Given the description of an element on the screen output the (x, y) to click on. 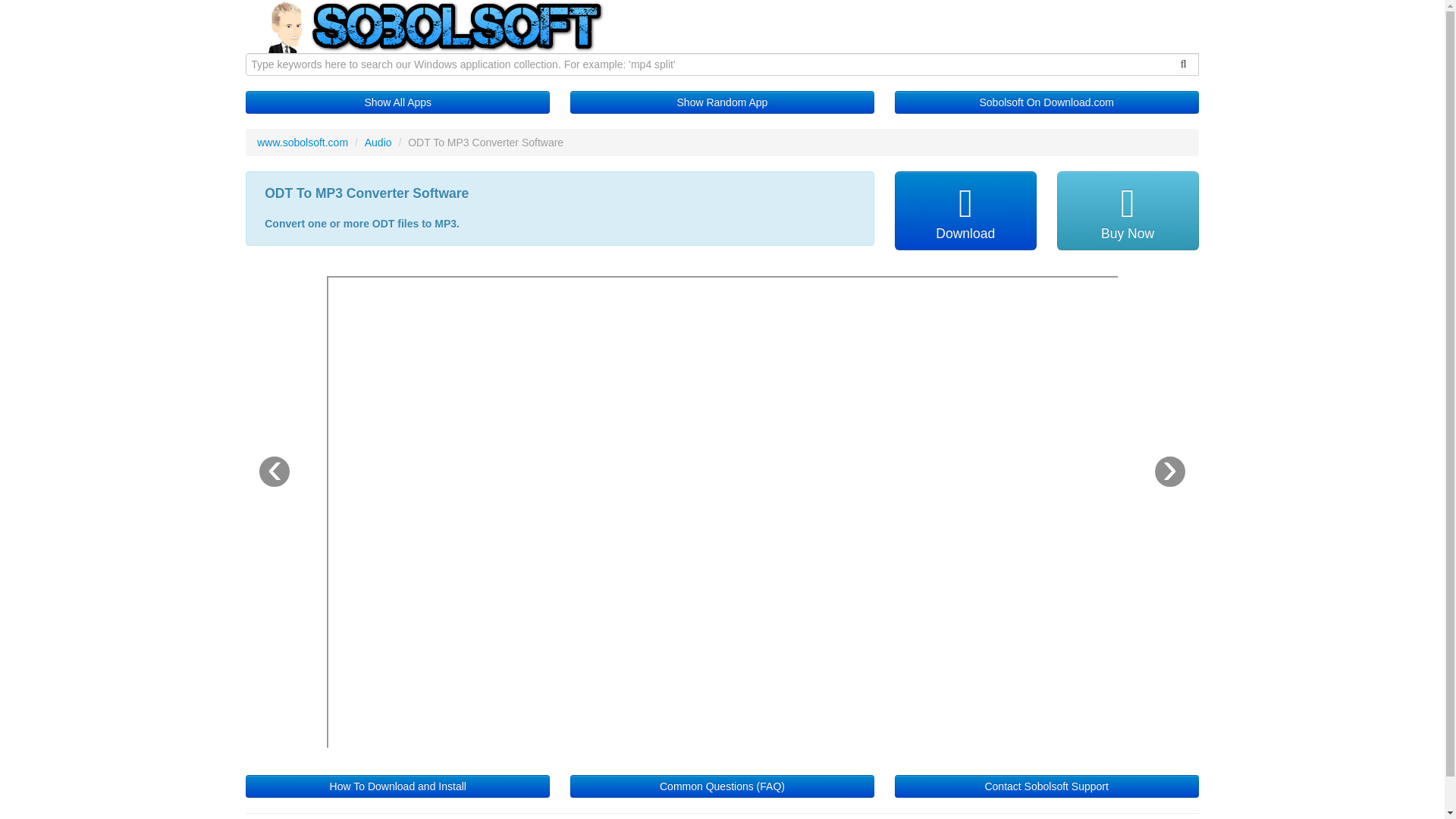
www.sobolsoft.com (302, 142)
Contact Sobolsoft Support (1046, 785)
Buy Now (1127, 210)
Download (965, 210)
Show All Apps (398, 101)
Audio (378, 142)
Show Random App (722, 101)
How To Download and Install (398, 785)
Sobolsoft On Download.com (1046, 101)
